Given the description of an element on the screen output the (x, y) to click on. 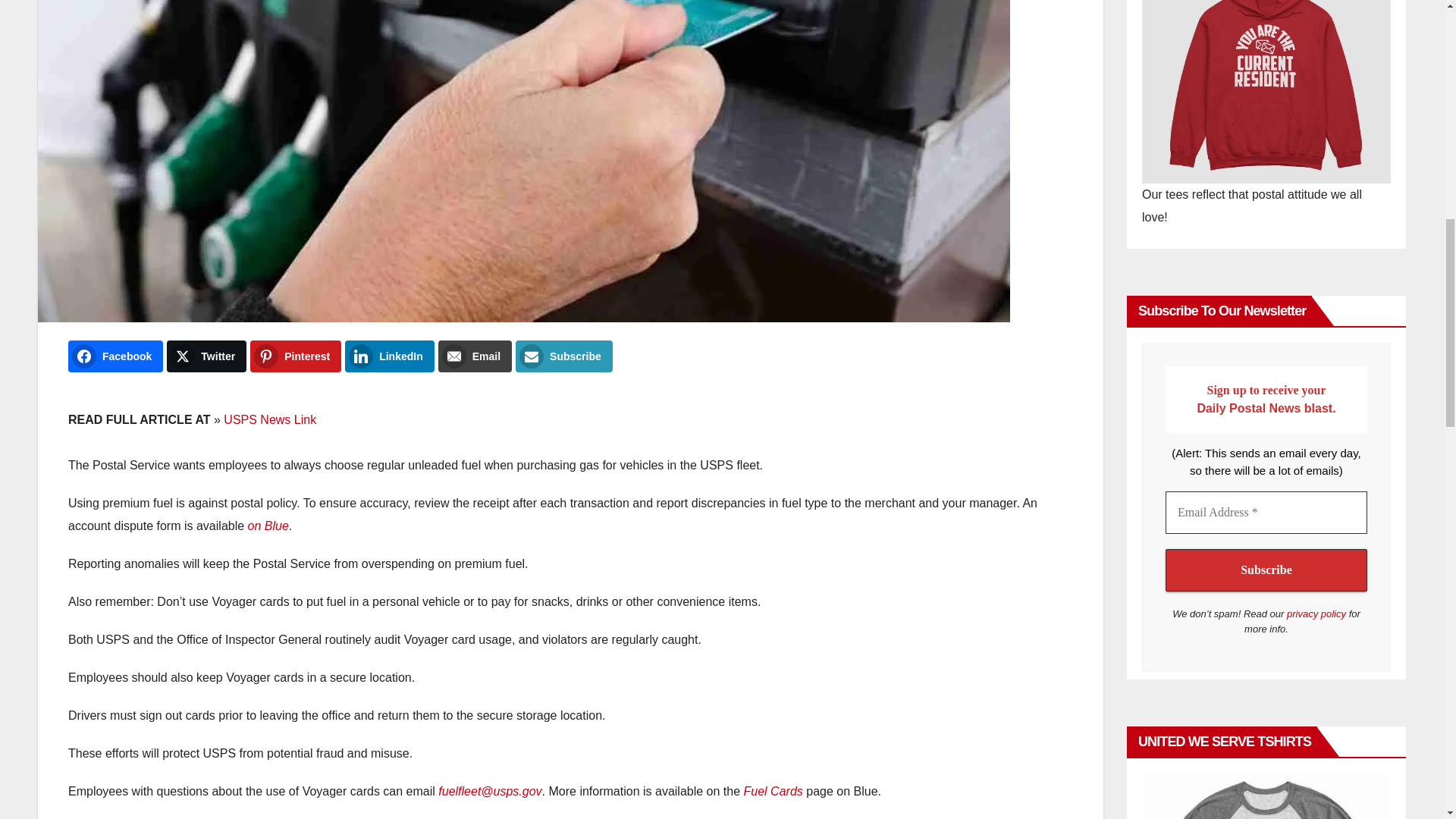
USPS News Link (269, 419)
Share on Twitter (206, 356)
Email (475, 356)
Share on Facebook (115, 356)
Subscribe (1266, 569)
Twitter (206, 356)
LinkedIn (389, 356)
Facebook (115, 356)
on Blue (267, 525)
Pinterest (295, 356)
